Given the description of an element on the screen output the (x, y) to click on. 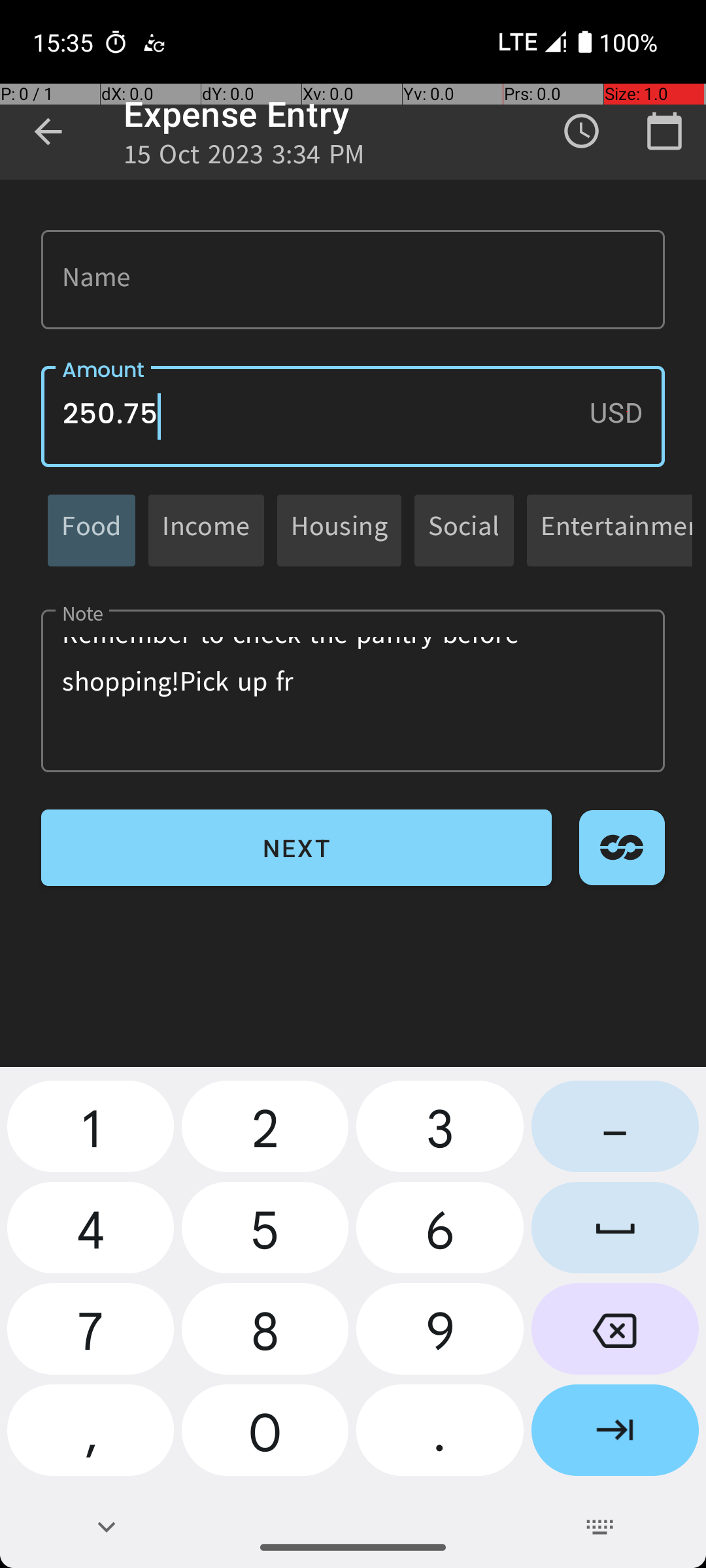
250.75 Element type: android.widget.EditText (352, 416)
Don't forget to buy groceries for the week!
Remember to check the pantry before shopping!Pick up fr
 Element type: android.widget.EditText (352, 690)
NEXT Element type: android.widget.Button (296, 847)
